Given the description of an element on the screen output the (x, y) to click on. 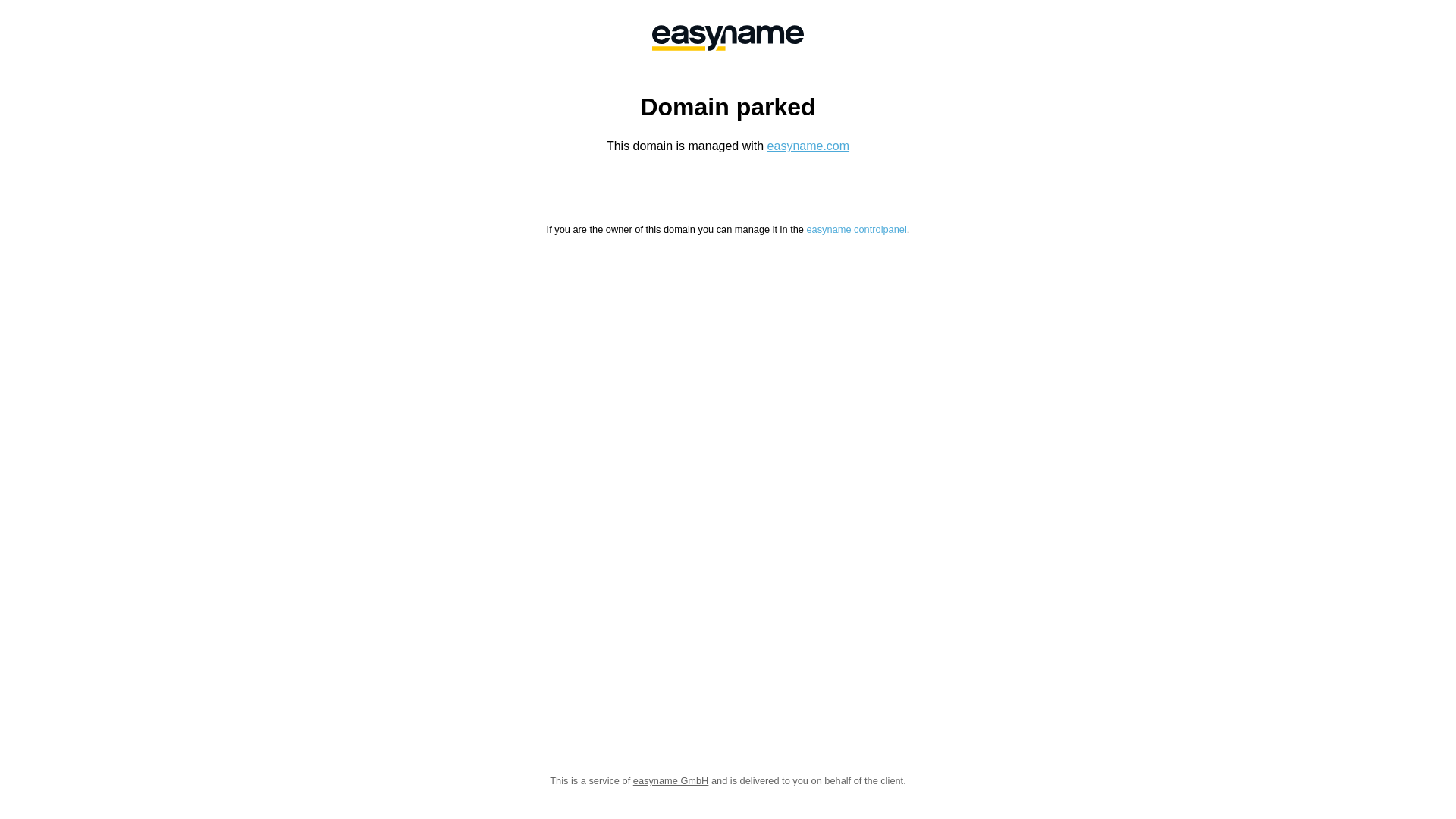
easyname controlpanel Element type: text (856, 229)
easyname GmbH Element type: text (671, 780)
easyname.com Element type: text (808, 145)
easyname GmbH Element type: hover (727, 37)
